Given the description of an element on the screen output the (x, y) to click on. 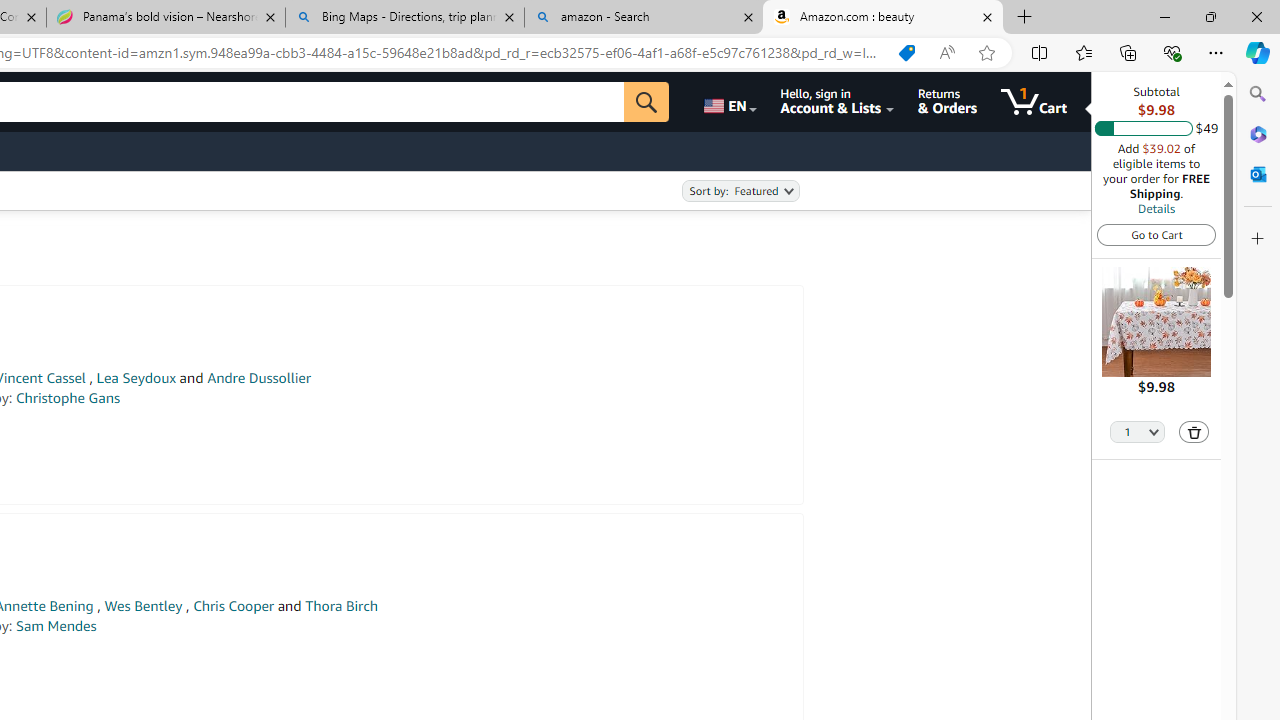
Andre Dussollier (259, 378)
Wes Bentley (143, 606)
Hello, sign in Account & Lists (836, 101)
Chris Cooper (234, 606)
Go (646, 101)
1 item in cart (1034, 101)
Amazon.com : beauty (883, 17)
Sam Mendes (56, 626)
Go to Cart (1156, 234)
Lea Seydoux (136, 378)
